Given the description of an element on the screen output the (x, y) to click on. 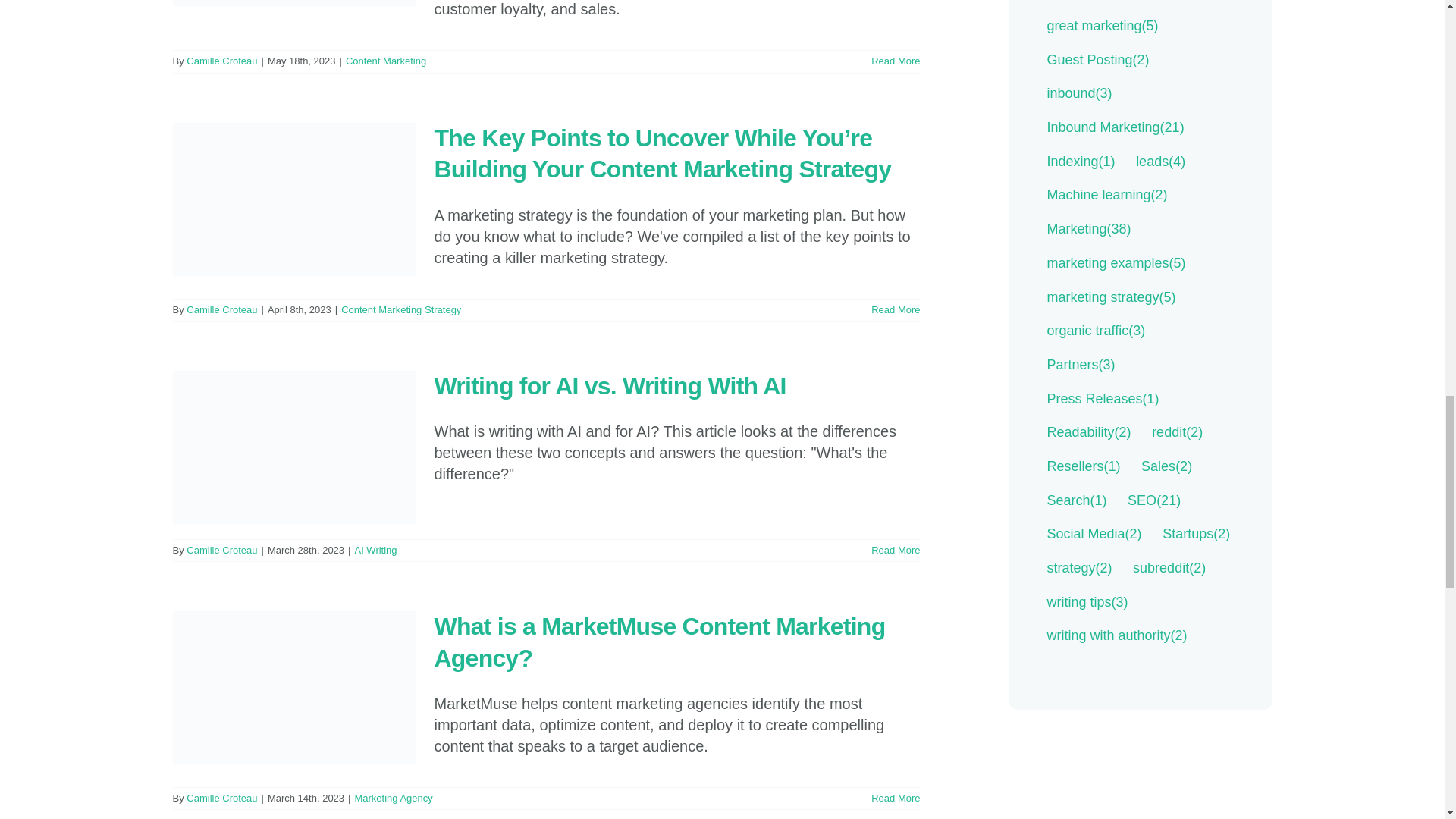
Posts by Camille Croteau (221, 309)
Posts by Camille Croteau (221, 60)
Posts by Camille Croteau (221, 797)
Posts by Camille Croteau (221, 550)
